Given the description of an element on the screen output the (x, y) to click on. 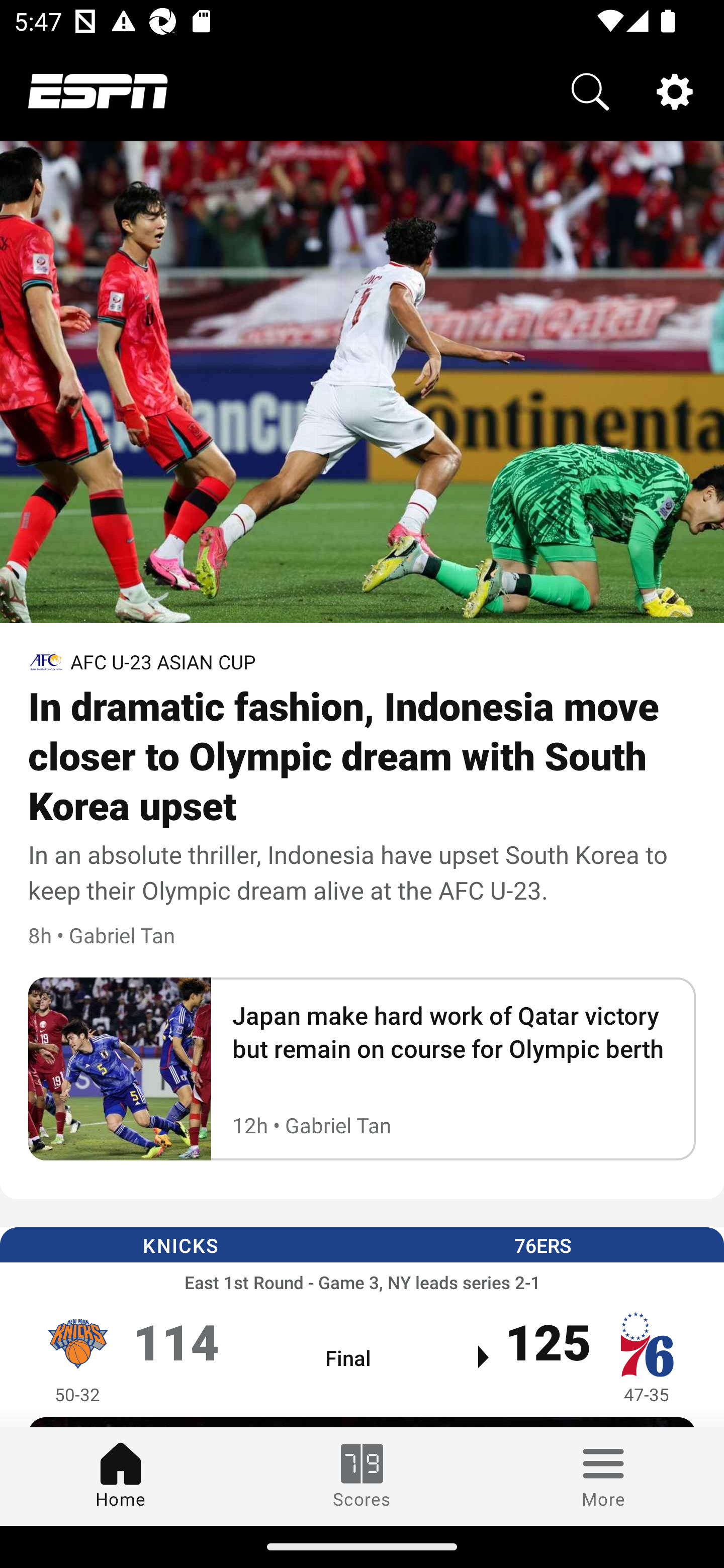
Search (590, 90)
Settings (674, 90)
Scores (361, 1475)
More (603, 1475)
